Given the description of an element on the screen output the (x, y) to click on. 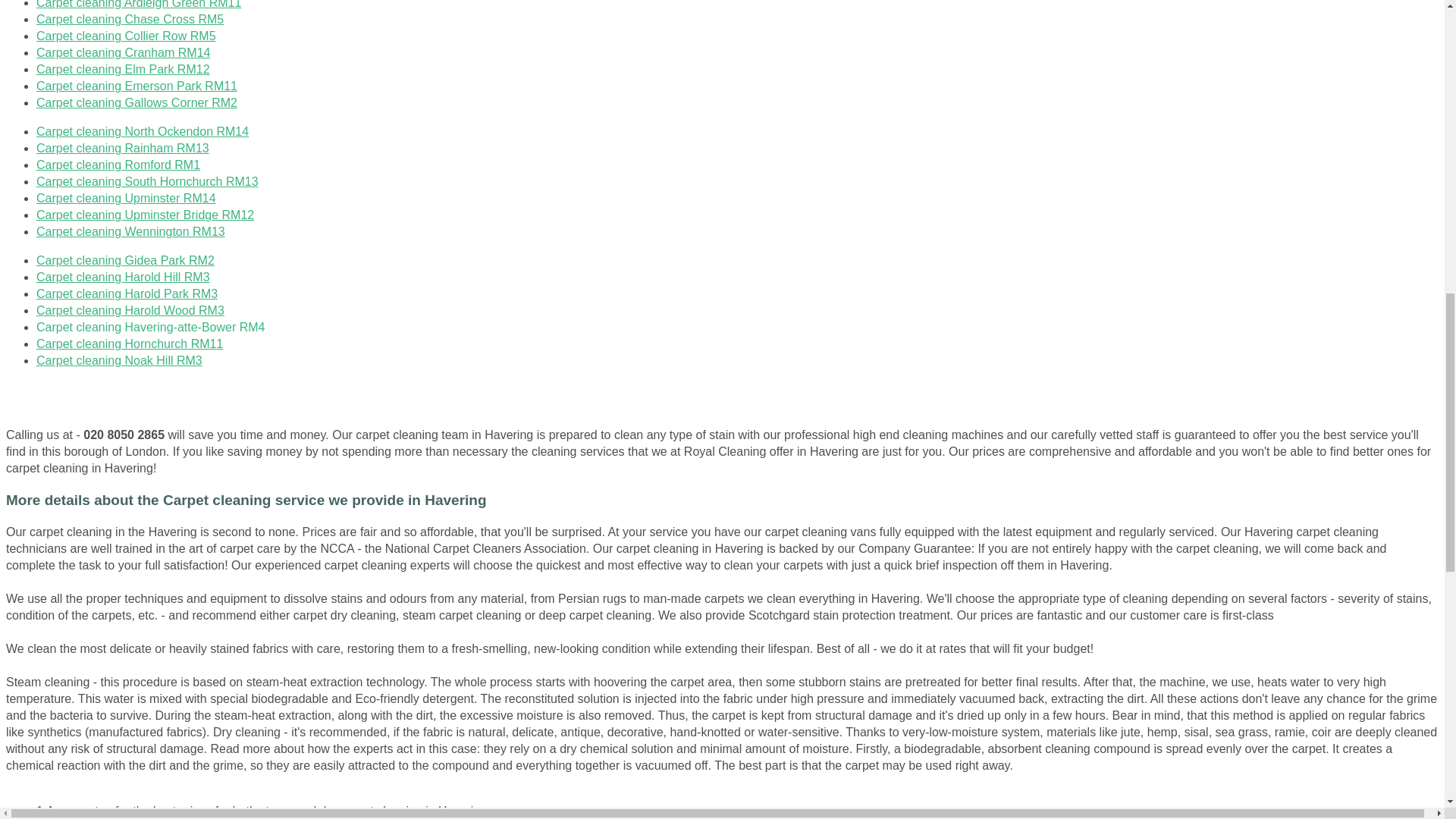
Carpet cleaning Elm Park RM12 (122, 69)
Carpet cleaning Harold Hill RM3 (122, 277)
Carpet cleaning Gidea Park RM2 (125, 259)
Carpet cleaning Rainham RM13 (122, 147)
Carpet cleaning Collier Row RM5 (125, 35)
Carpet cleaning Ardleigh Green RM11 (138, 4)
Carpet cleaning Cranham RM14 (122, 51)
Carpet cleaning Emerson Park RM11 (136, 85)
Carpet cleaning Upminster RM14 (125, 197)
Carpet cleaning Romford RM1 (118, 164)
